Given the description of an element on the screen output the (x, y) to click on. 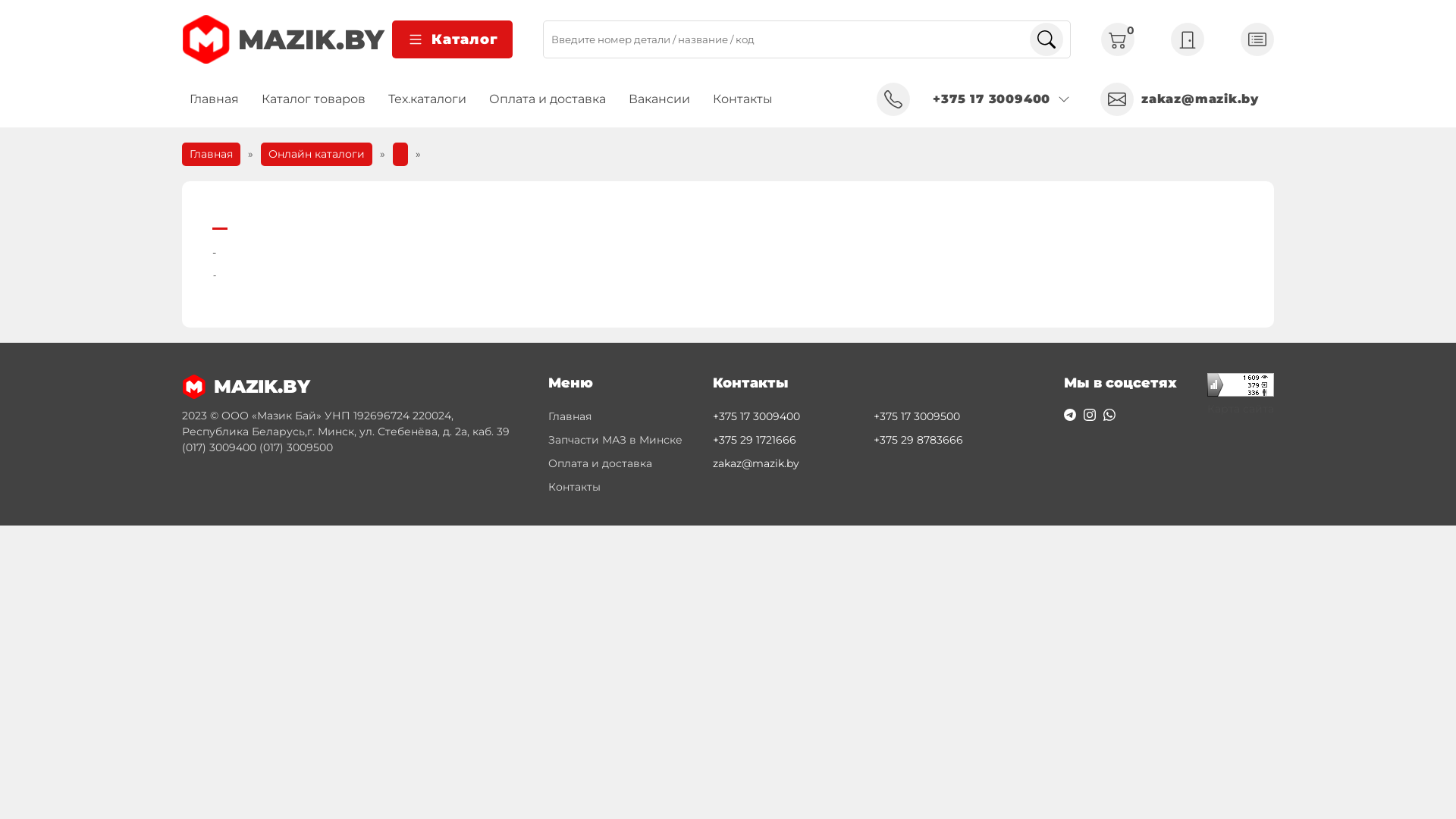
+375 29 8783666 Element type: text (949, 440)
zakaz@mazik.by Element type: text (789, 463)
MAZIK.BY Element type: text (283, 39)
0 Element type: text (1117, 39)
+375 29 1721666 Element type: text (789, 440)
MAZIK.BY Element type: text (349, 386)
+375 17 3009500 Element type: text (949, 416)
+375 17 3009400 Element type: text (789, 416)
